Given the description of an element on the screen output the (x, y) to click on. 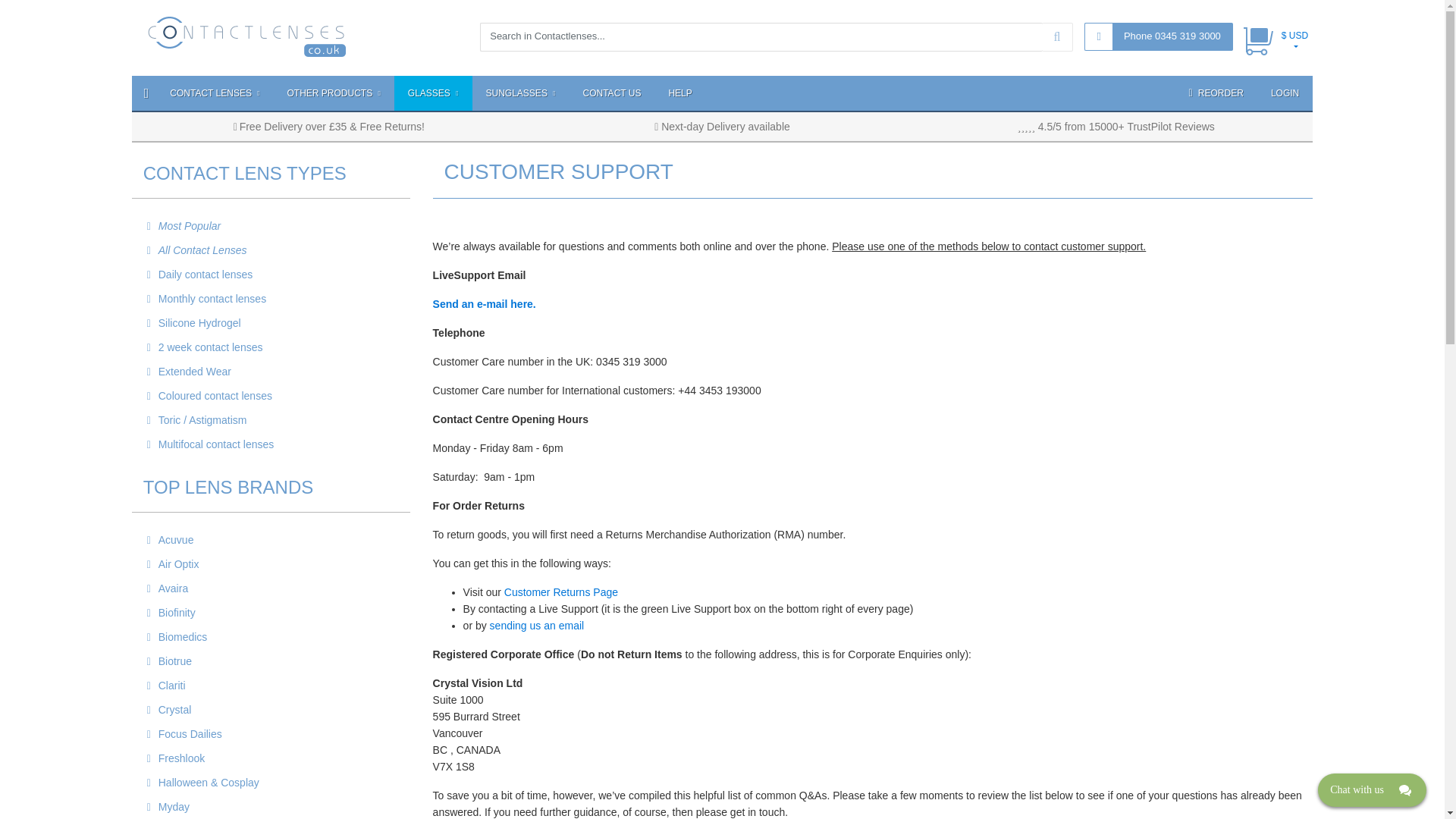
Contact Lenses Home (247, 36)
Phone 0345 319 3000 (1172, 35)
Contact Lenses Home (247, 35)
CONTACT LENSES (214, 93)
